Given the description of an element on the screen output the (x, y) to click on. 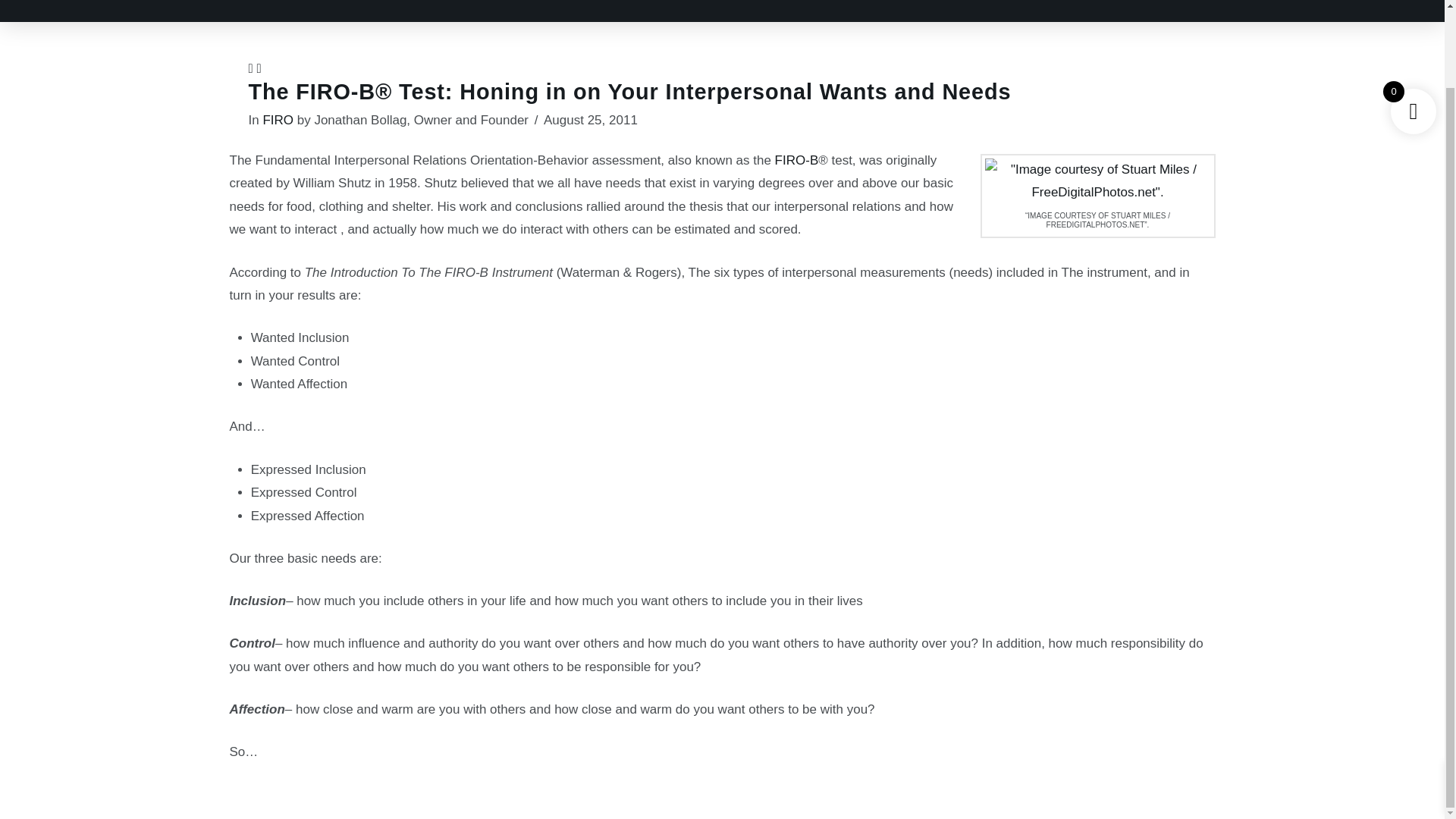
Learn all about the Firo B (796, 160)
Home (596, 2)
Myers-Briggs (674, 2)
